Given the description of an element on the screen output the (x, y) to click on. 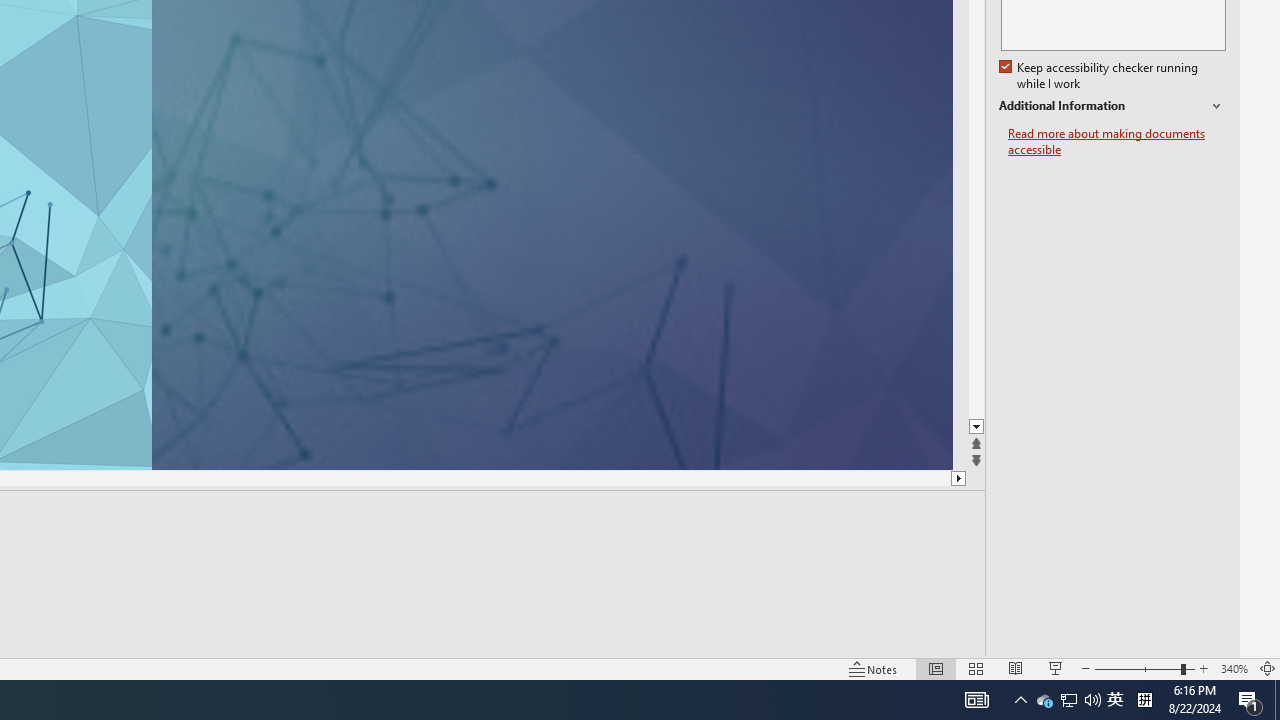
Keep accessibility checker running while I work (1099, 76)
Read more about making documents accessible (1117, 142)
Additional Information (1112, 106)
Zoom 340% (1234, 668)
